Given the description of an element on the screen output the (x, y) to click on. 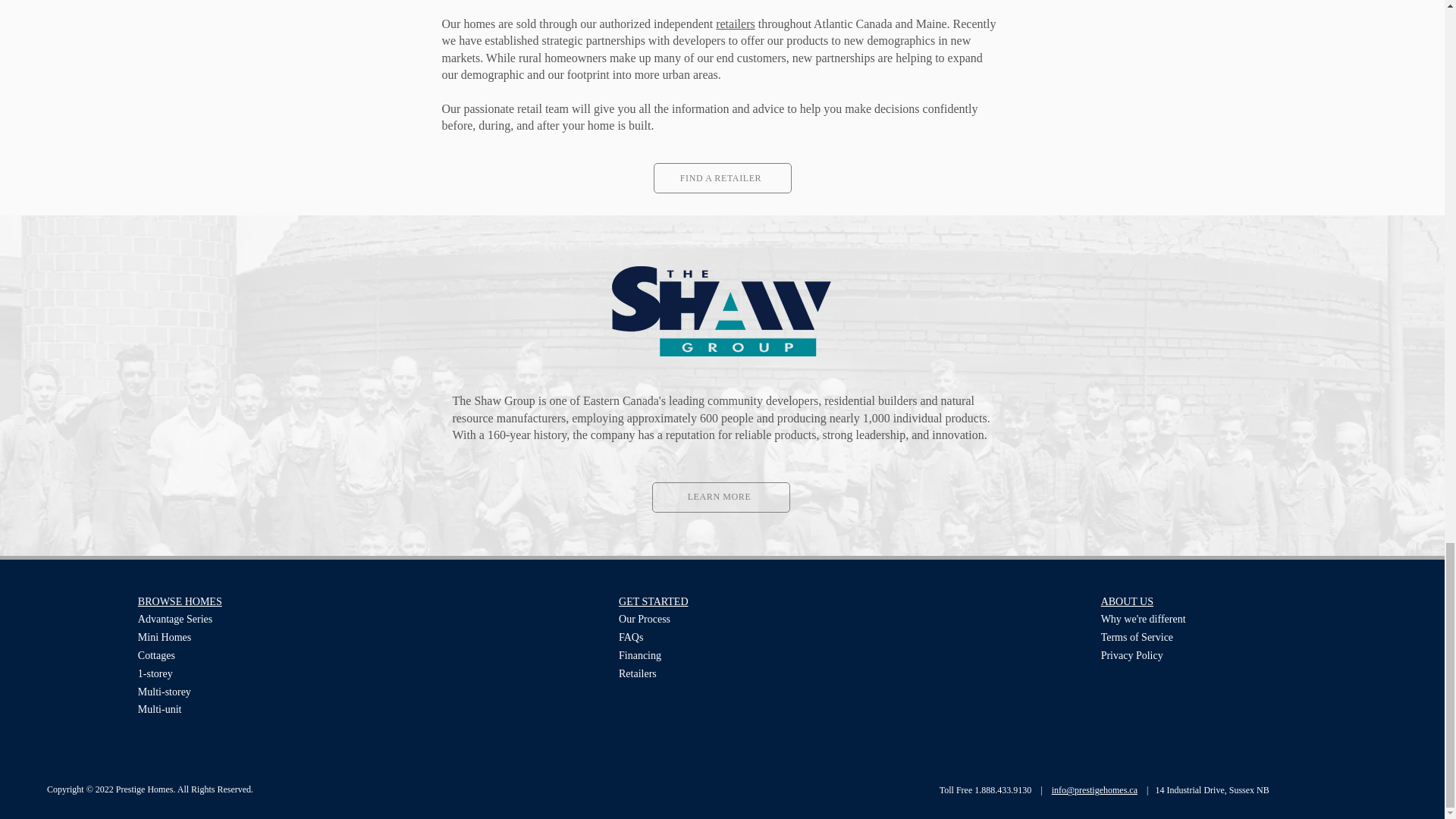
LEARN MORE (721, 497)
Our Process (643, 618)
Multi-unit (160, 708)
Financing (639, 655)
GET STARTED (653, 601)
FIND A RETAILER (722, 177)
FAQs (630, 636)
Cottages (156, 655)
Retailers (637, 673)
Mini Homes (164, 636)
